Given the description of an element on the screen output the (x, y) to click on. 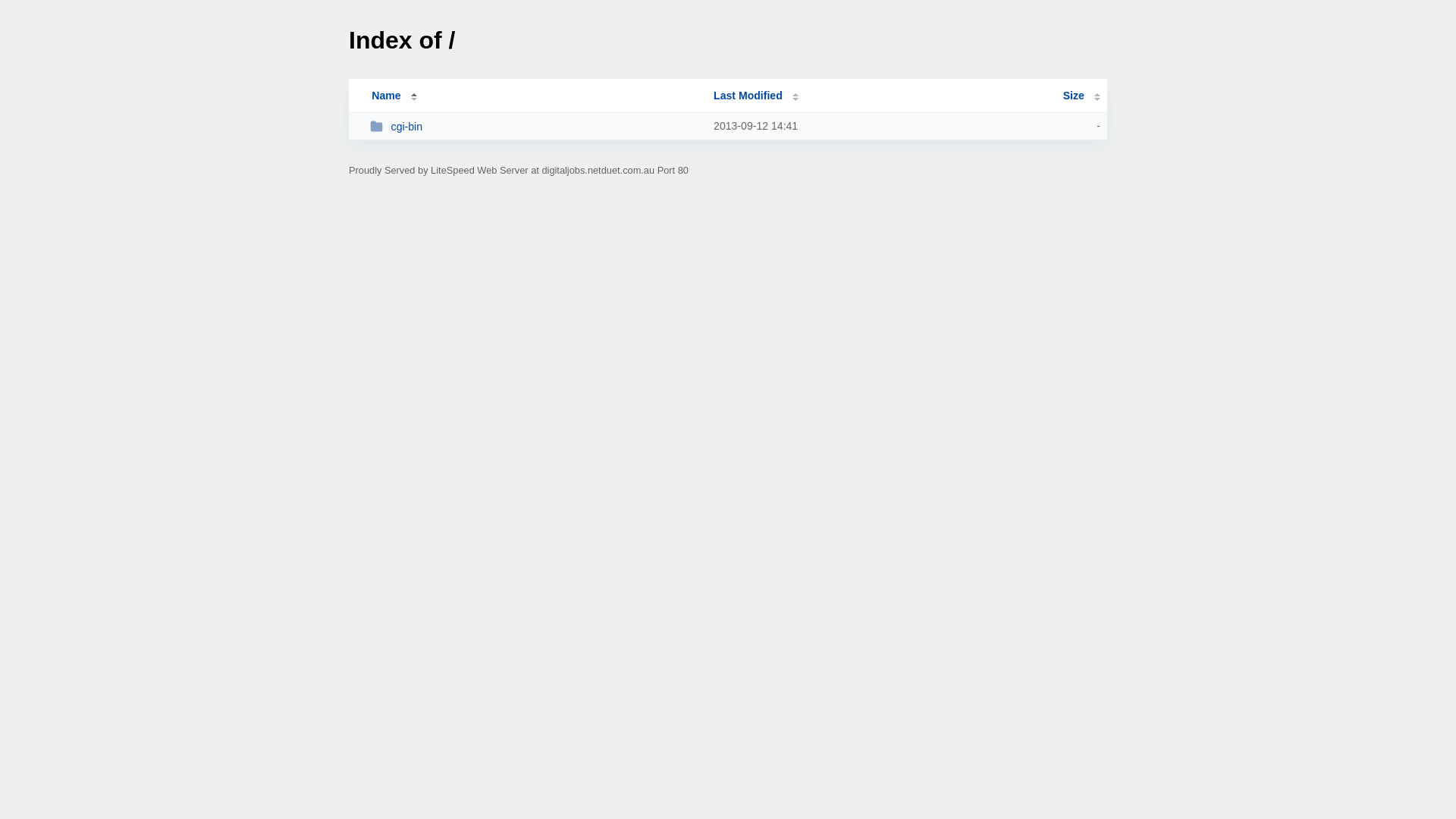
Last Modified Element type: text (755, 95)
Size Element type: text (1081, 95)
Name Element type: text (385, 95)
cgi-bin Element type: text (534, 125)
